Given the description of an element on the screen output the (x, y) to click on. 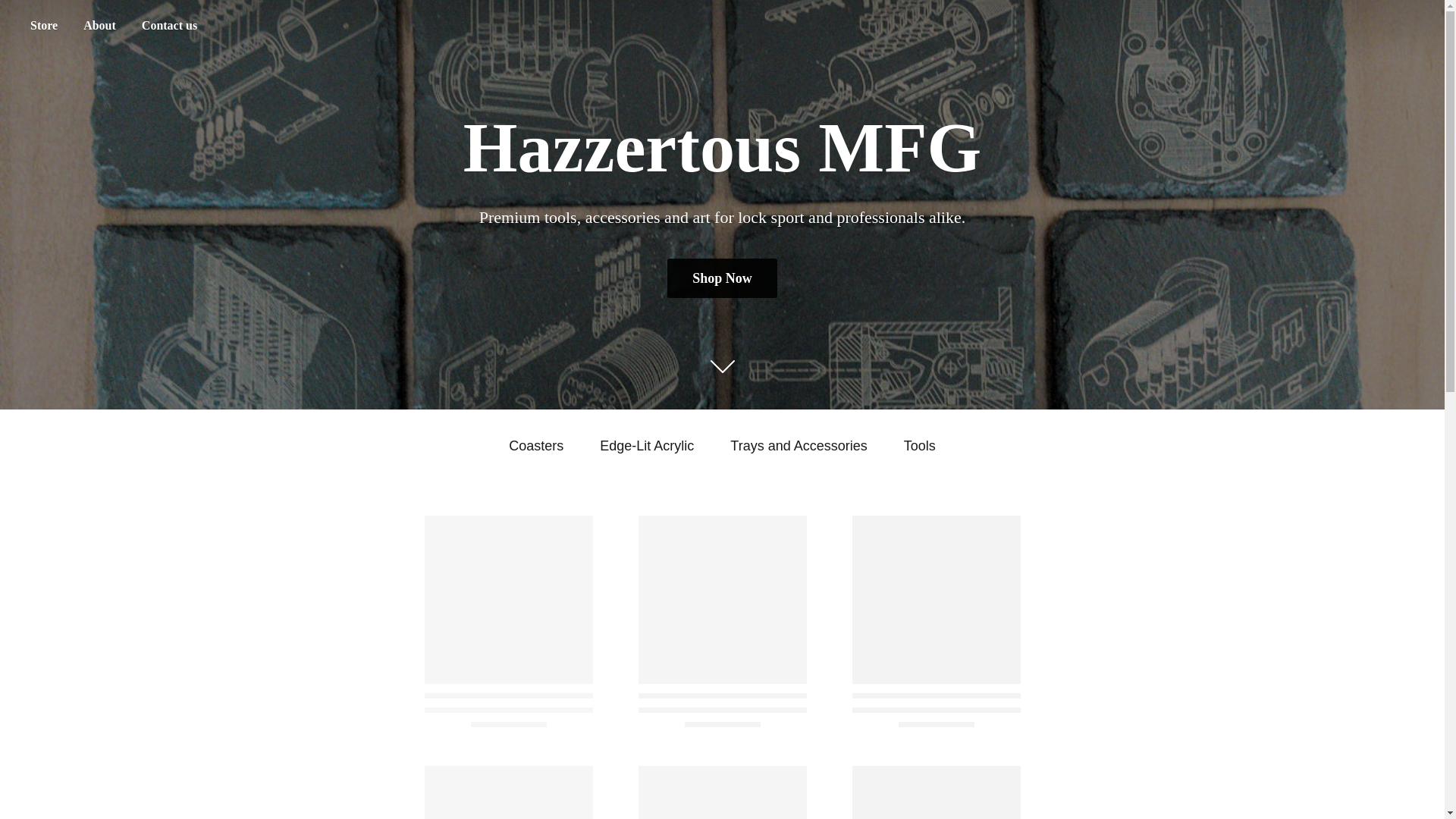
About (99, 25)
Coasters (535, 445)
Trays and Accessories (798, 445)
Edge-Lit Acrylic (646, 445)
Contact us (169, 25)
Store (43, 25)
Shop Now (721, 277)
Tools (920, 445)
